Given the description of an element on the screen output the (x, y) to click on. 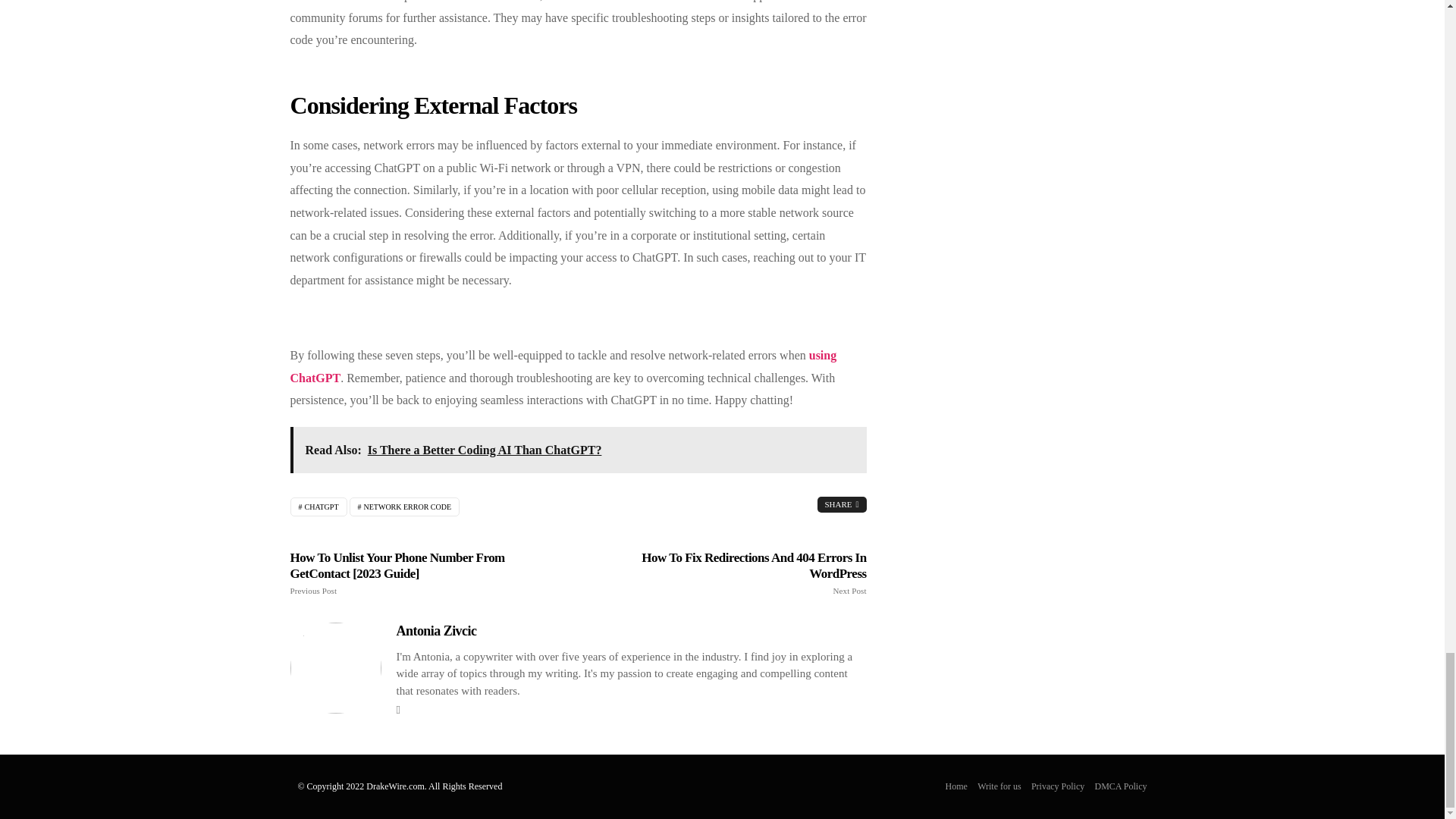
NETWORK ERROR CODE (404, 506)
CHATGPT (317, 506)
using ChatGPT (562, 366)
Read Also:  Is There a Better Coding AI Than ChatGPT? (577, 450)
